Given the description of an element on the screen output the (x, y) to click on. 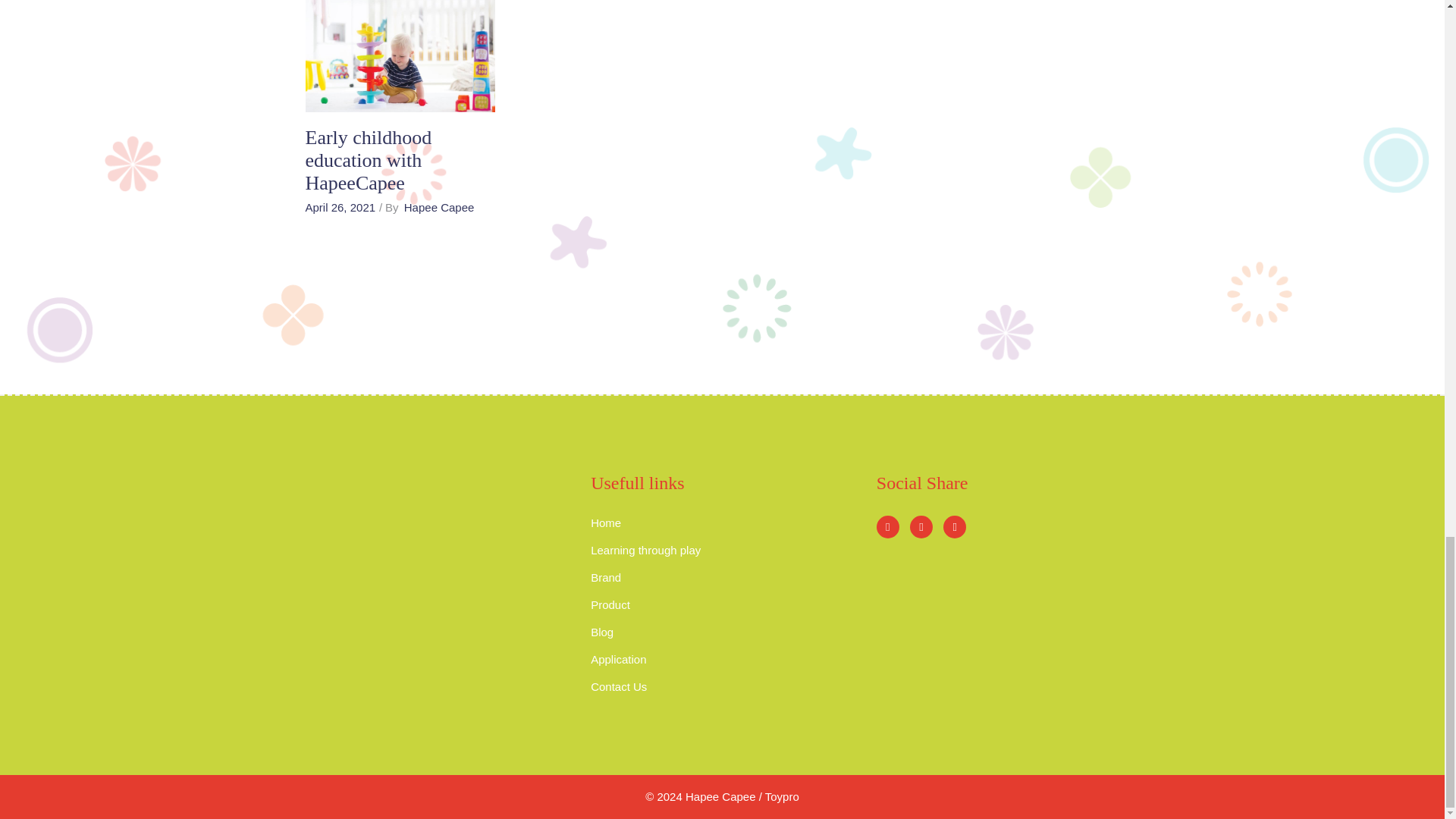
Early childhood education with HapeeCapee (367, 160)
Early childhood education with HapeeCapee (399, 56)
Hapee Capee (439, 206)
April 26, 2021 (339, 206)
Early childhood education with HapeeCapee (367, 160)
